Given the description of an element on the screen output the (x, y) to click on. 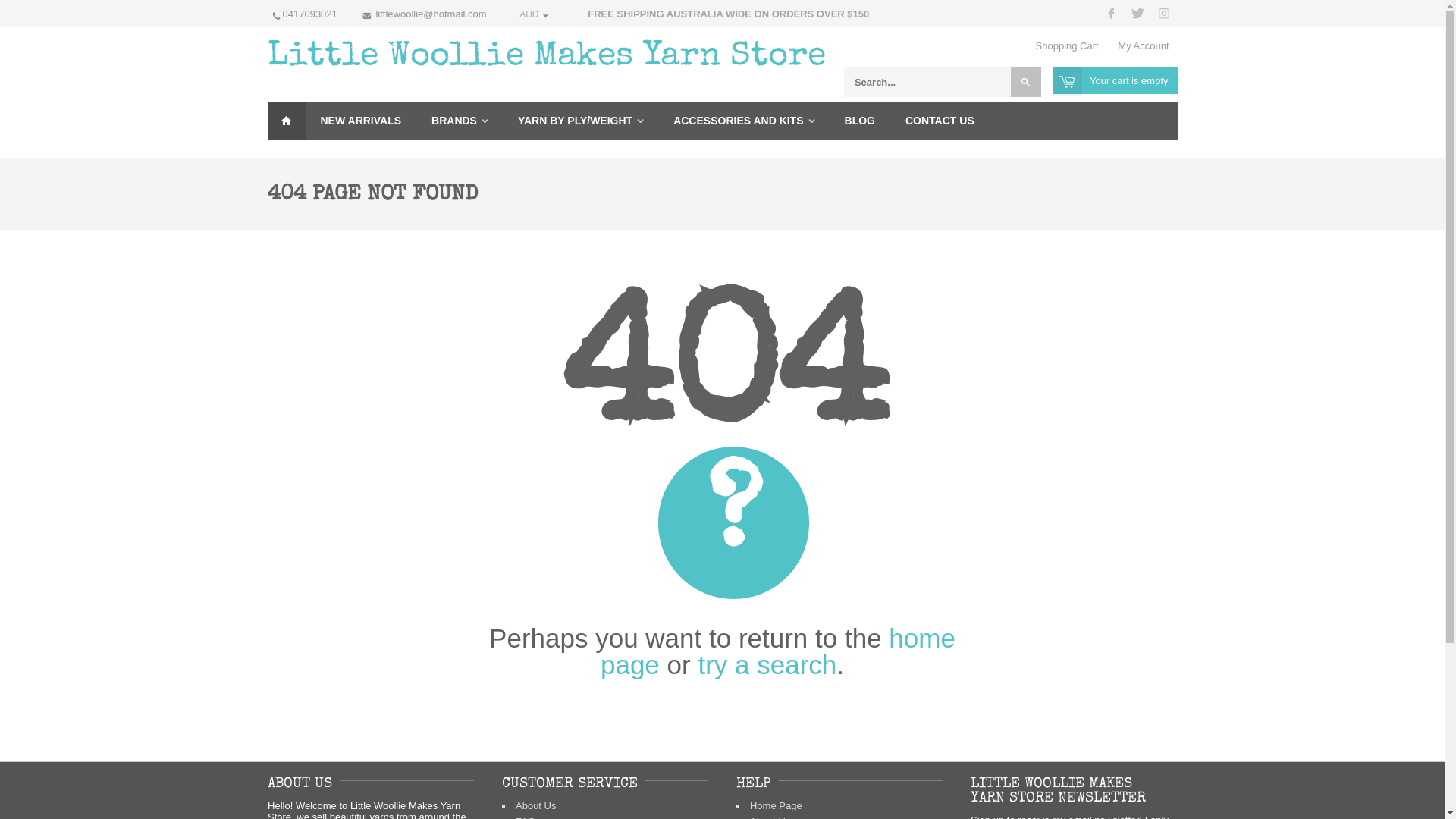
YARN BY PLY/WEIGHT Element type: text (574, 120)
CONTACT US Element type: text (939, 120)
try a search Element type: text (766, 664)
Shopping Cart Element type: text (1066, 45)
NEW ARRIVALS Element type: text (360, 120)
ACCESSORIES AND KITS Element type: text (738, 120)
About Us Element type: text (535, 805)
Search Element type: text (1025, 81)
BLOG Element type: text (859, 120)
HOME Element type: text (285, 120)
littlewoollie@hotmail.com Element type: text (430, 13)
BRANDS Element type: text (454, 120)
Little Woollie Makes Yarn Store Element type: text (545, 57)
home page Element type: text (777, 651)
My Account Element type: text (1142, 45)
Home Page Element type: text (775, 805)
Your cart is empty Element type: text (1114, 80)
